Given the description of an element on the screen output the (x, y) to click on. 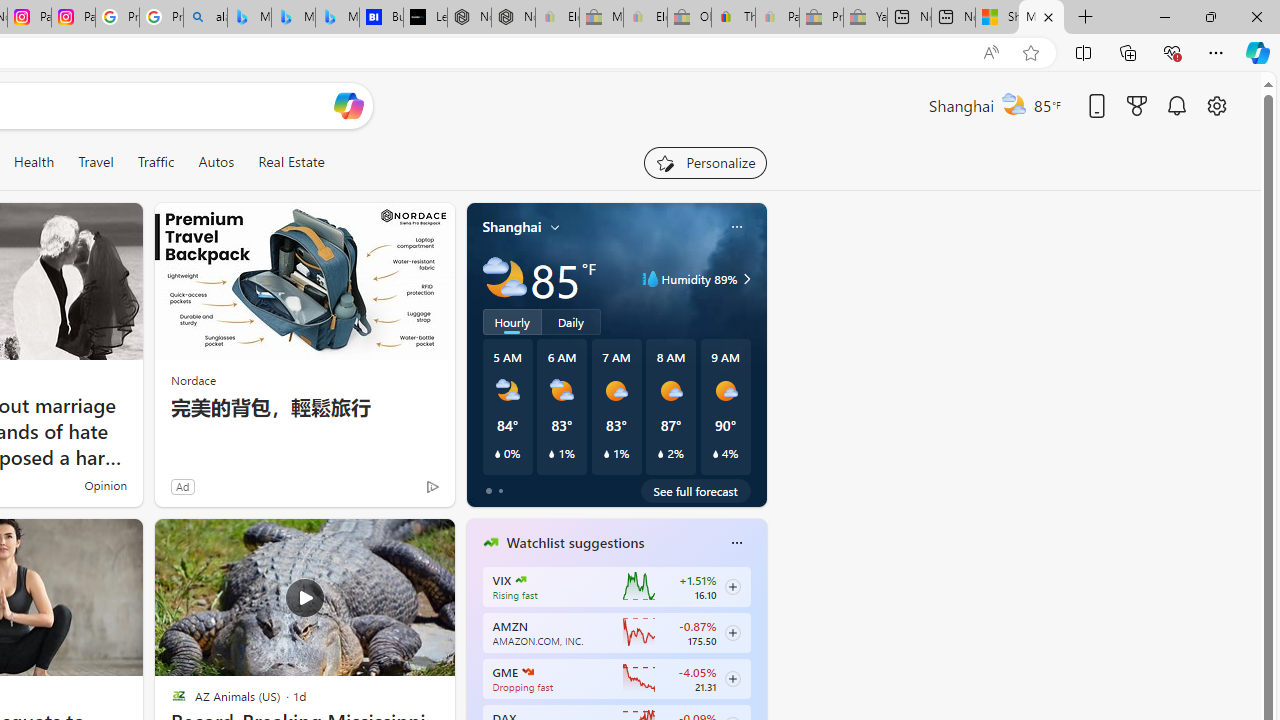
Personalize your feed" (704, 162)
You're following MSNBC (390, 490)
GAMESTOP CORP. (528, 672)
Microsoft Bing Travel - Shangri-La Hotel Bangkok (337, 17)
My location (555, 227)
